Given the description of an element on the screen output the (x, y) to click on. 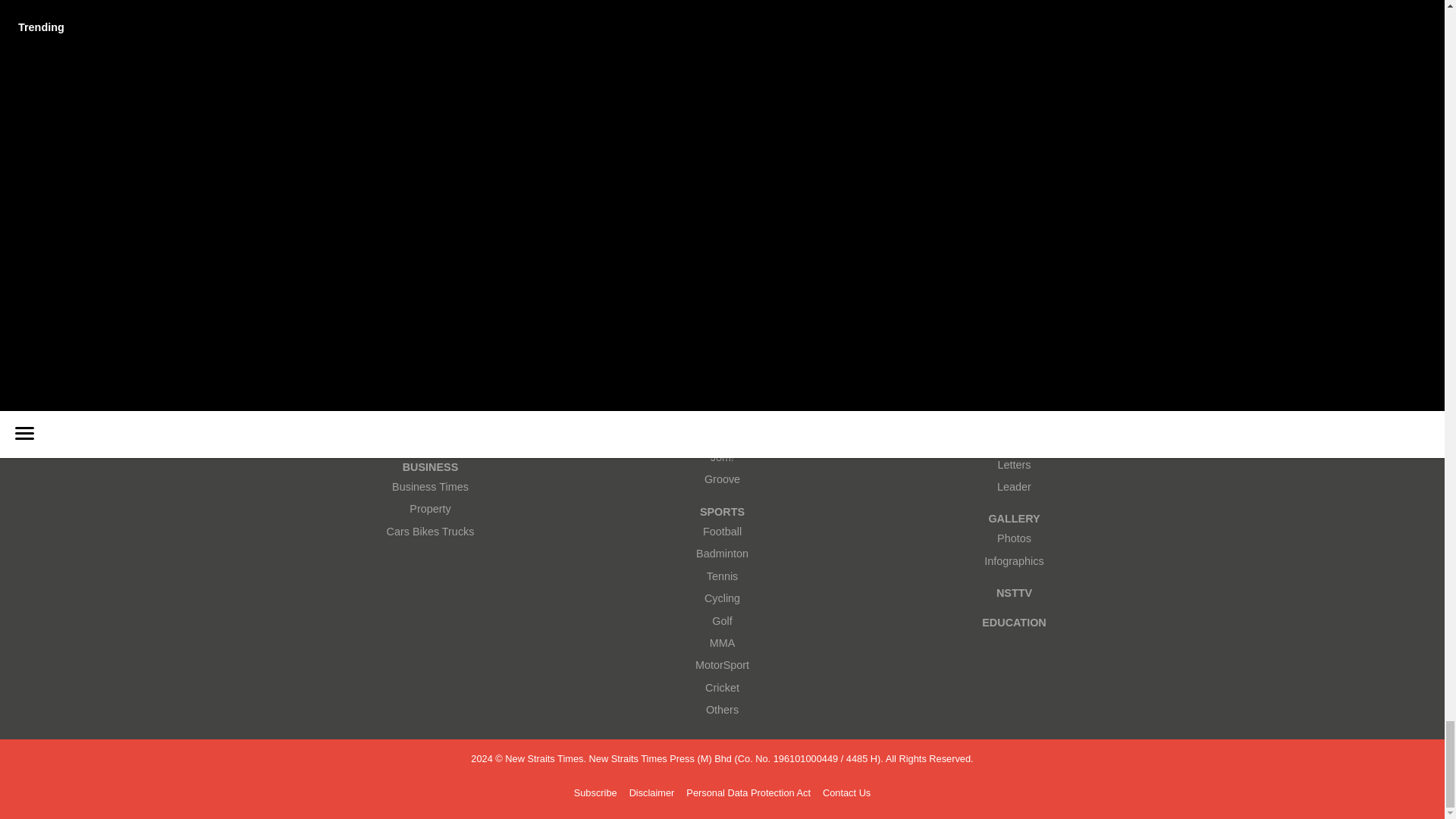
Business Times (429, 486)
Nation (429, 413)
Cars Bikes Trucks (429, 531)
Property (429, 508)
Politics (429, 434)
BUSINESS (429, 466)
NEWS (429, 348)
